Given the description of an element on the screen output the (x, y) to click on. 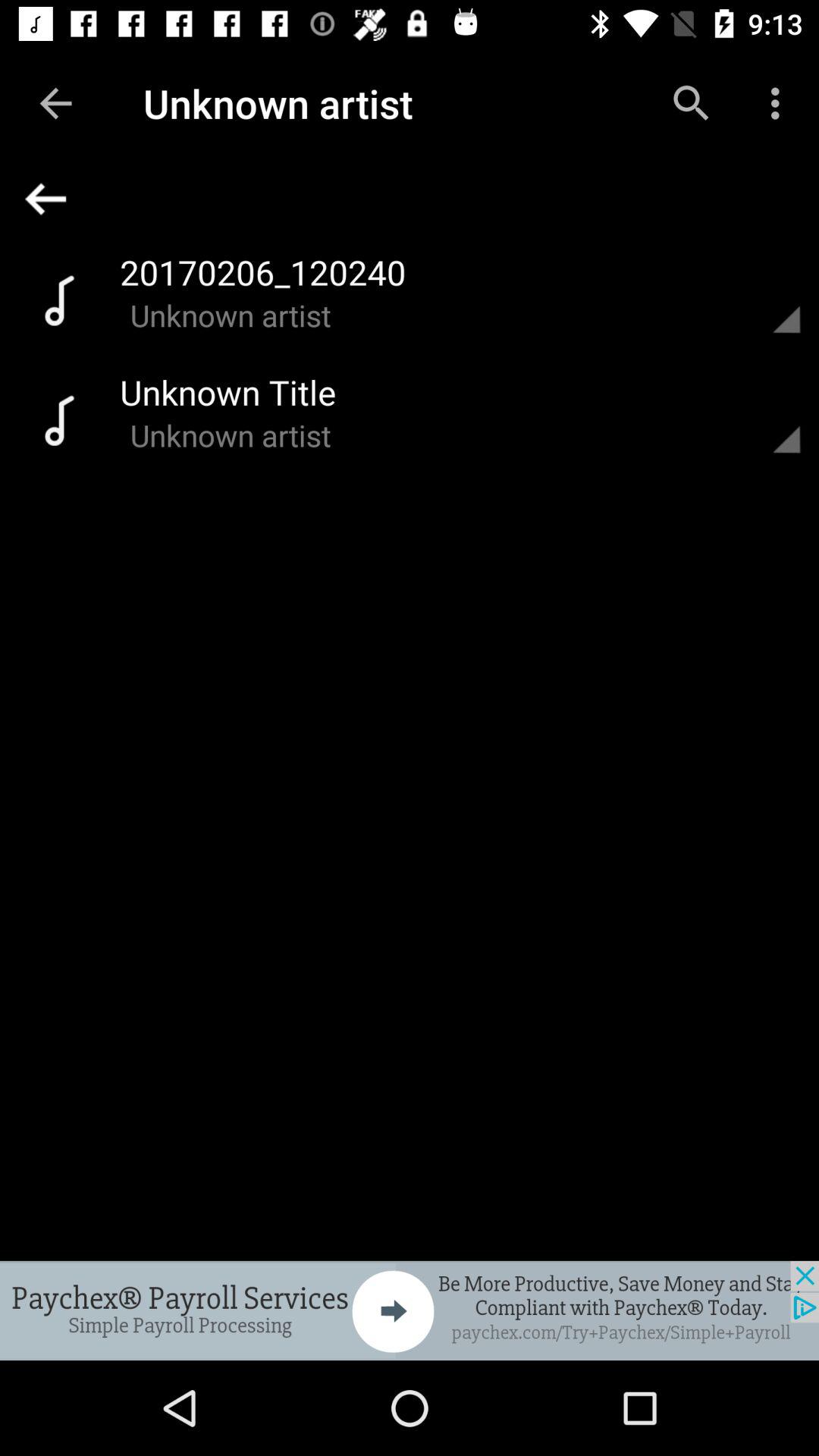
see more details (768, 298)
